Given the description of an element on the screen output the (x, y) to click on. 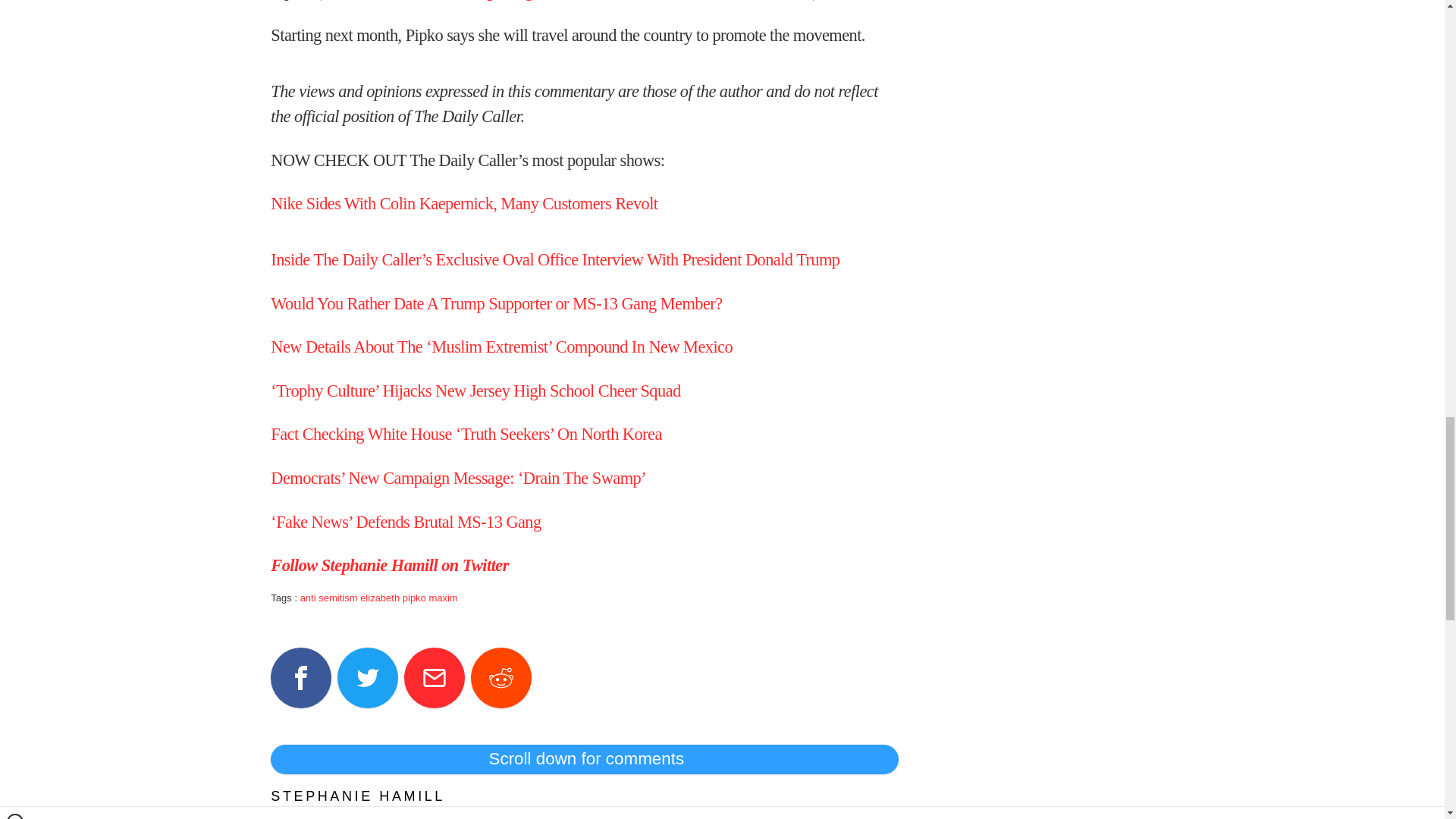
Scroll down for comments (584, 758)
